Given the description of an element on the screen output the (x, y) to click on. 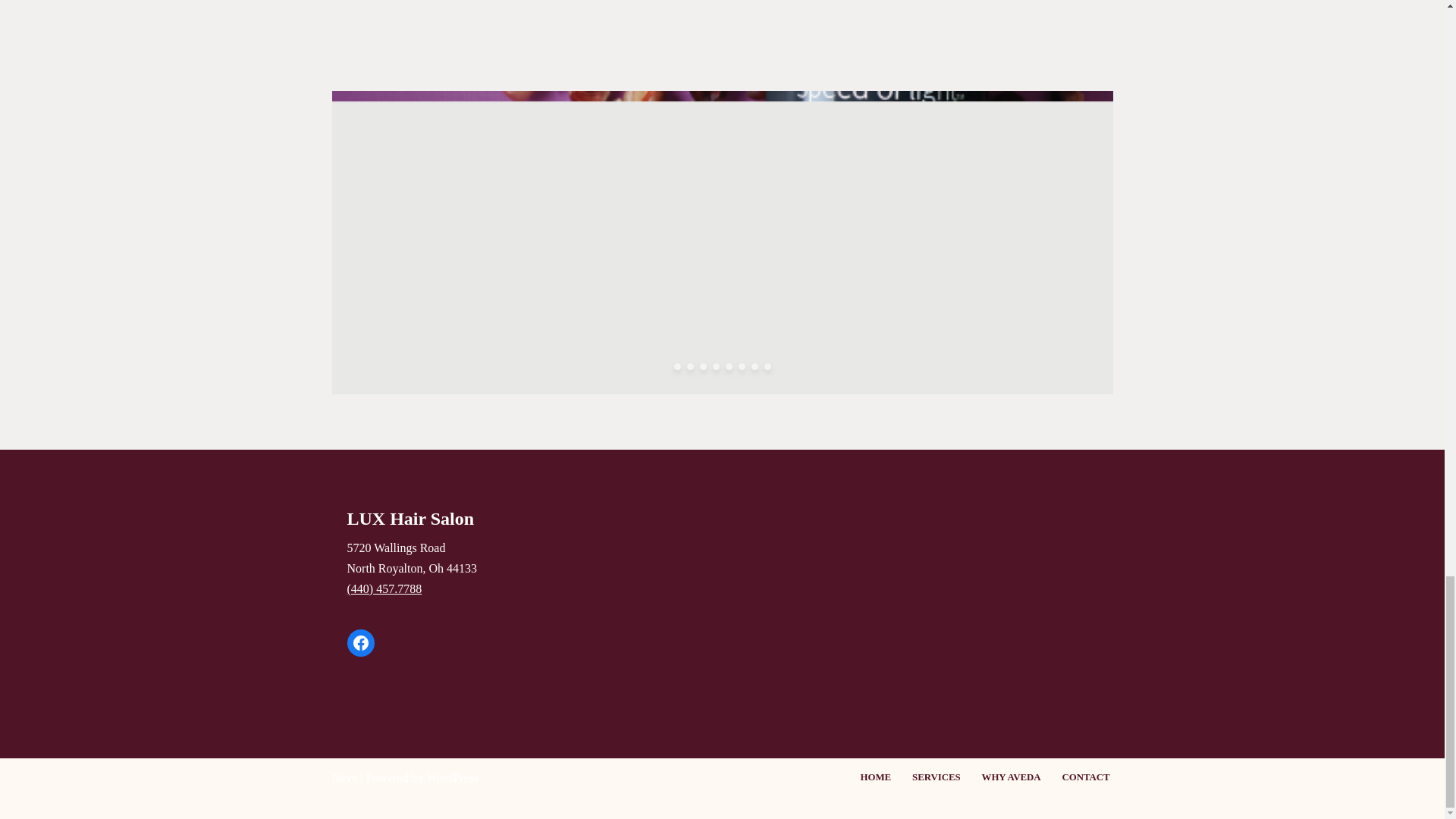
CONTACT (1085, 776)
Google Map (520, 3)
WHY AVEDA (1011, 776)
Neve (344, 777)
SERVICES (412, 557)
HOME (936, 776)
WordPress (875, 776)
